Given the description of an element on the screen output the (x, y) to click on. 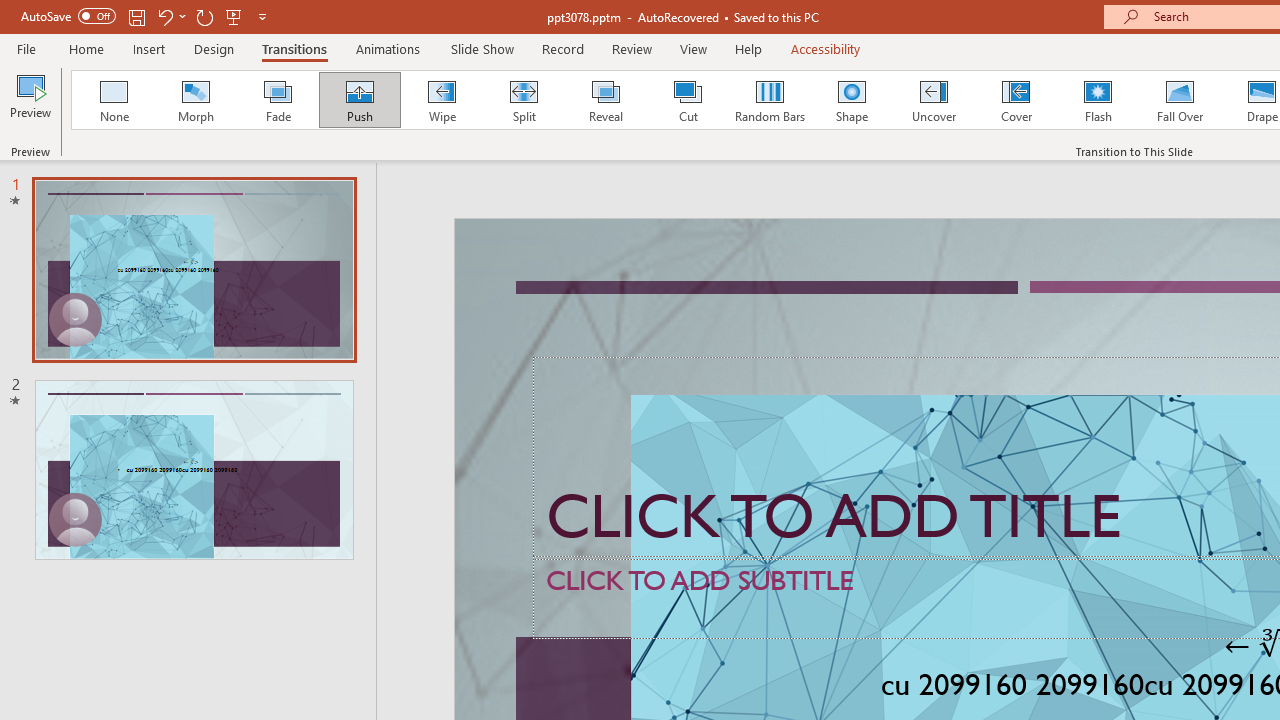
Random Bars (770, 100)
Push (359, 100)
Split (523, 100)
Fade (277, 100)
